Given the description of an element on the screen output the (x, y) to click on. 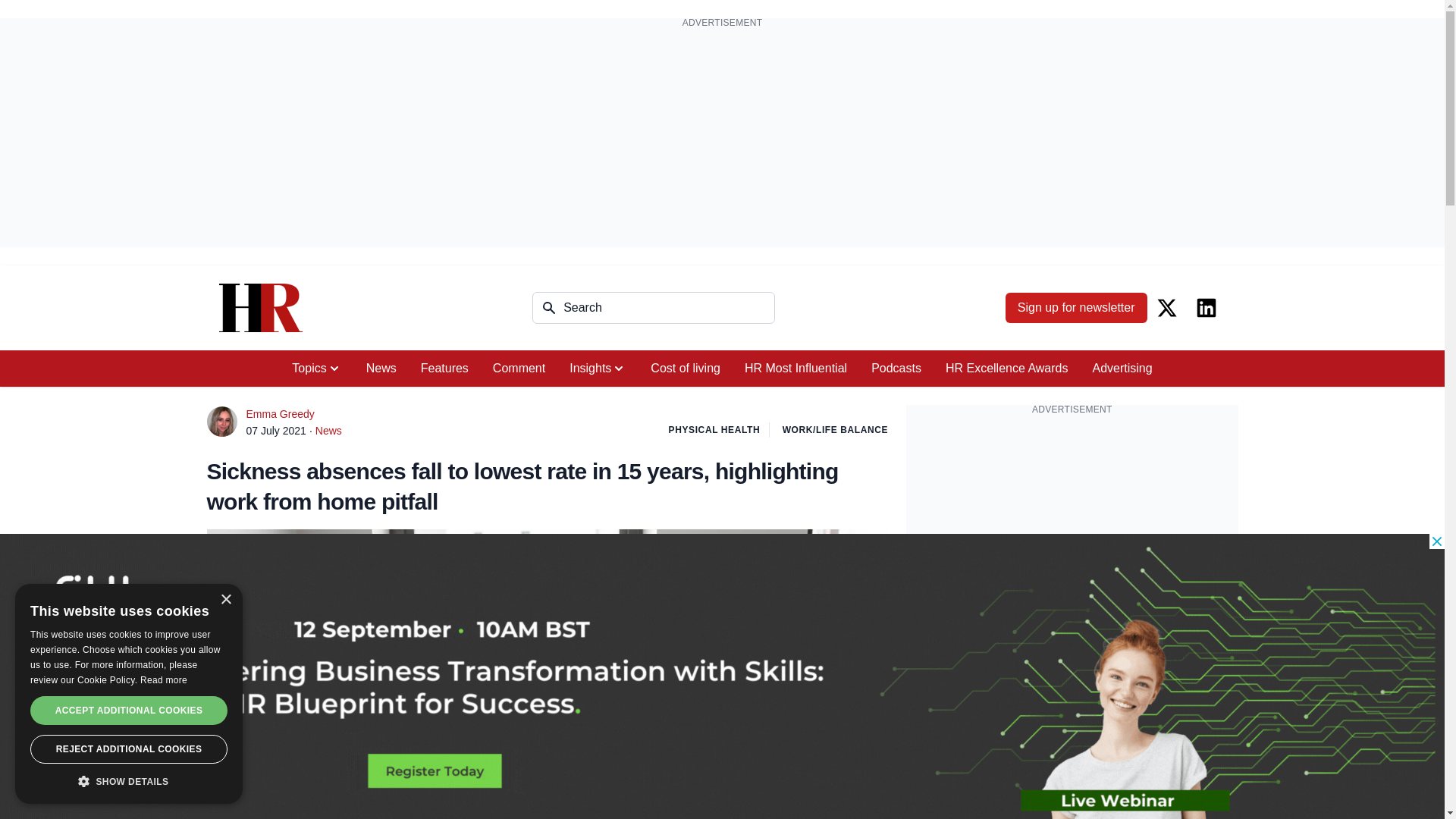
Comment (518, 368)
Topics (316, 368)
HR Most Influential (795, 368)
Cost of living (685, 368)
Sign up for newsletter (1076, 307)
Features (444, 368)
Insights (598, 368)
3rd party ad content (1072, 520)
News (381, 368)
